Given the description of an element on the screen output the (x, y) to click on. 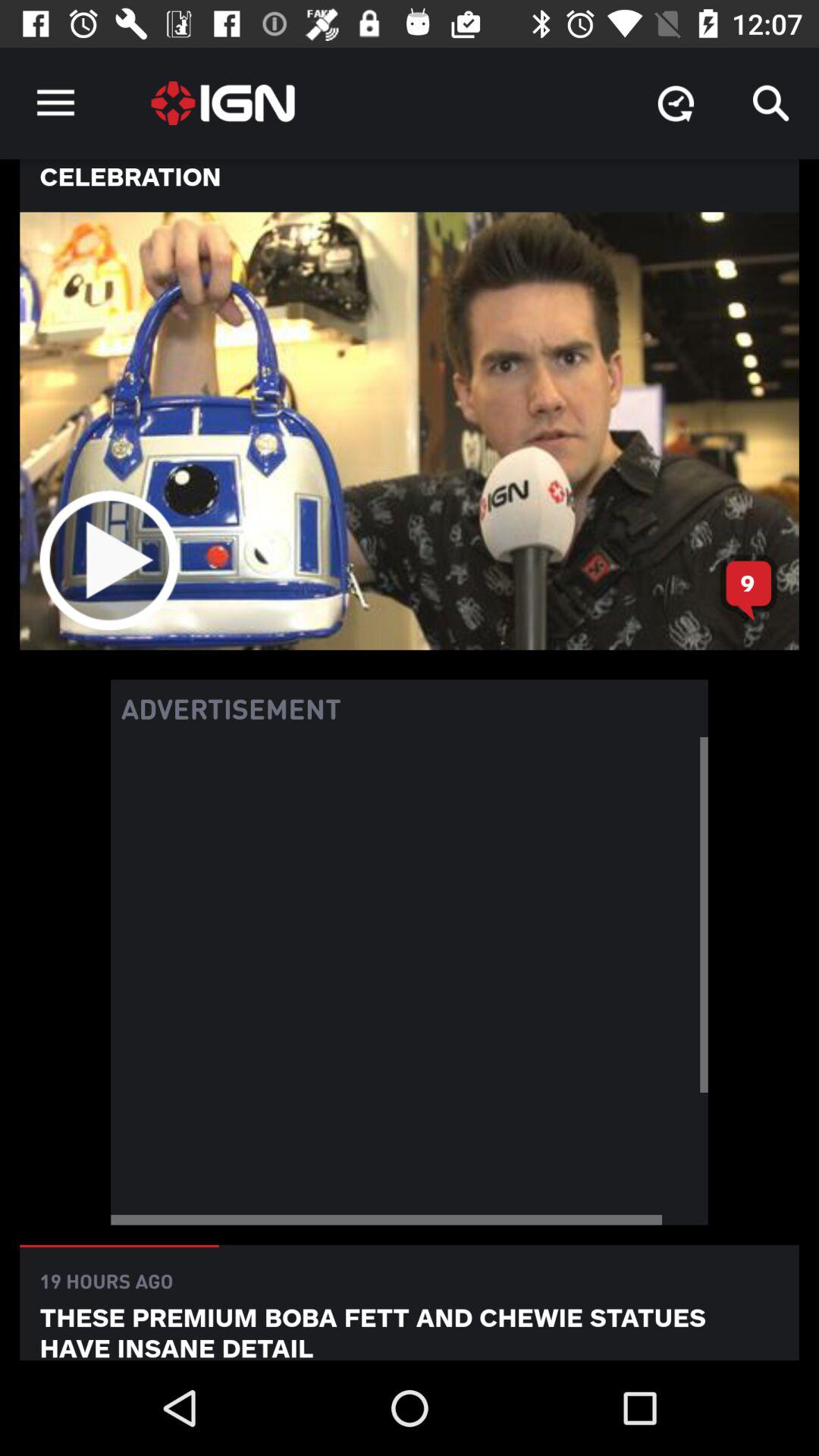
select the item above none of these icon (771, 103)
